Given the description of an element on the screen output the (x, y) to click on. 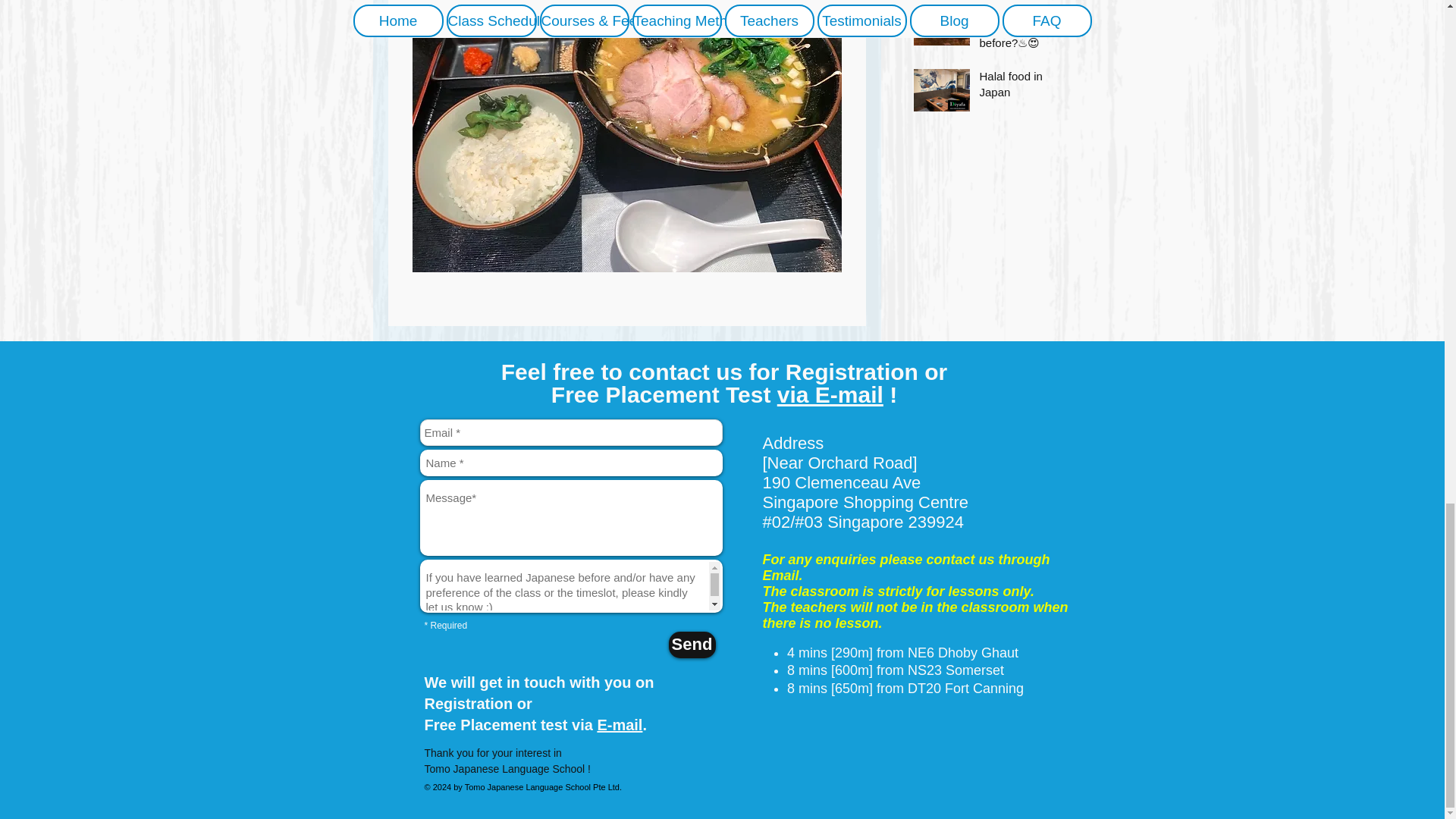
Halal food in Japan (1020, 86)
Send (692, 644)
